Given the description of an element on the screen output the (x, y) to click on. 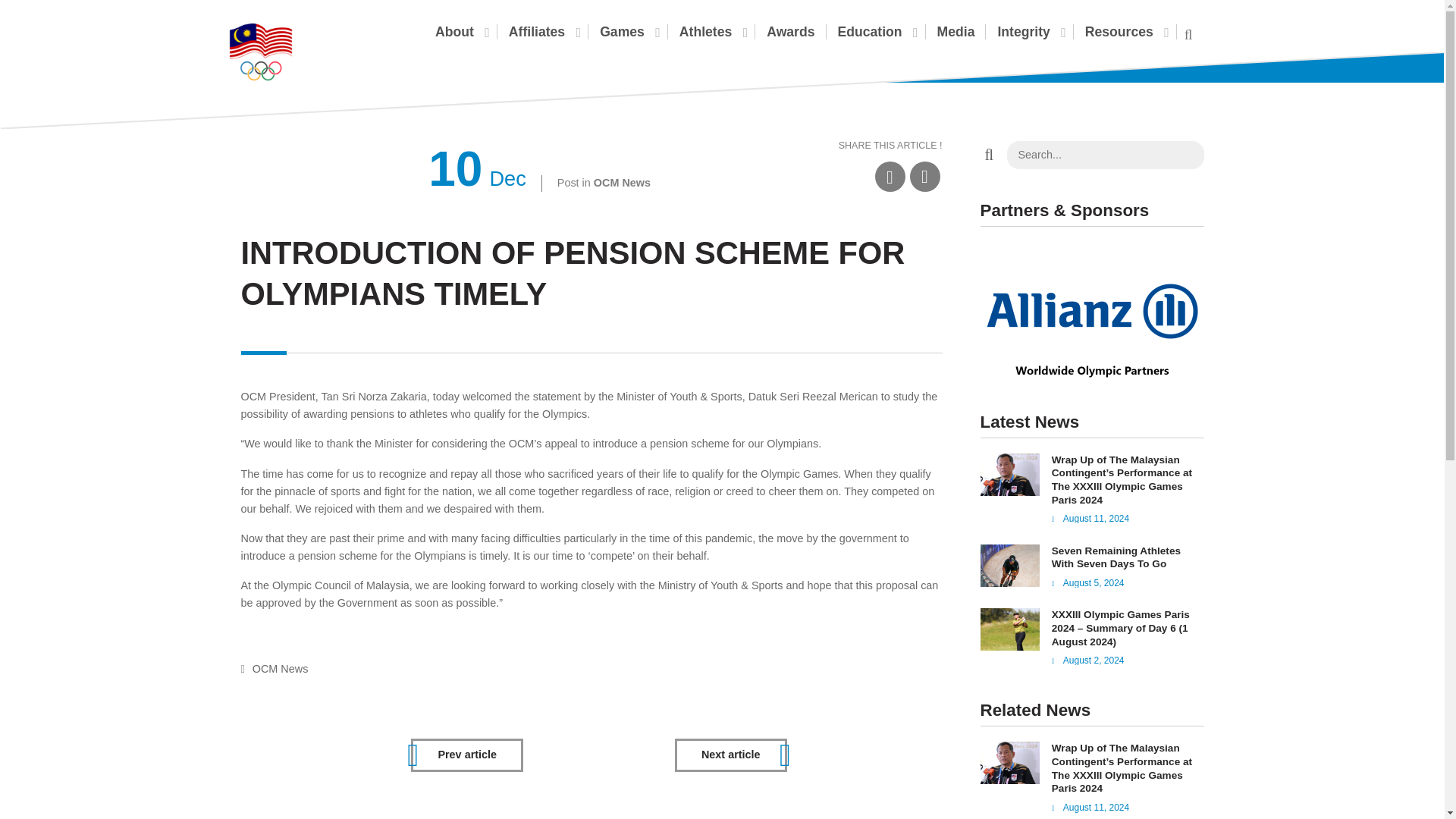
About (460, 31)
Affiliates (542, 31)
About (460, 31)
Games (627, 31)
